Given the description of an element on the screen output the (x, y) to click on. 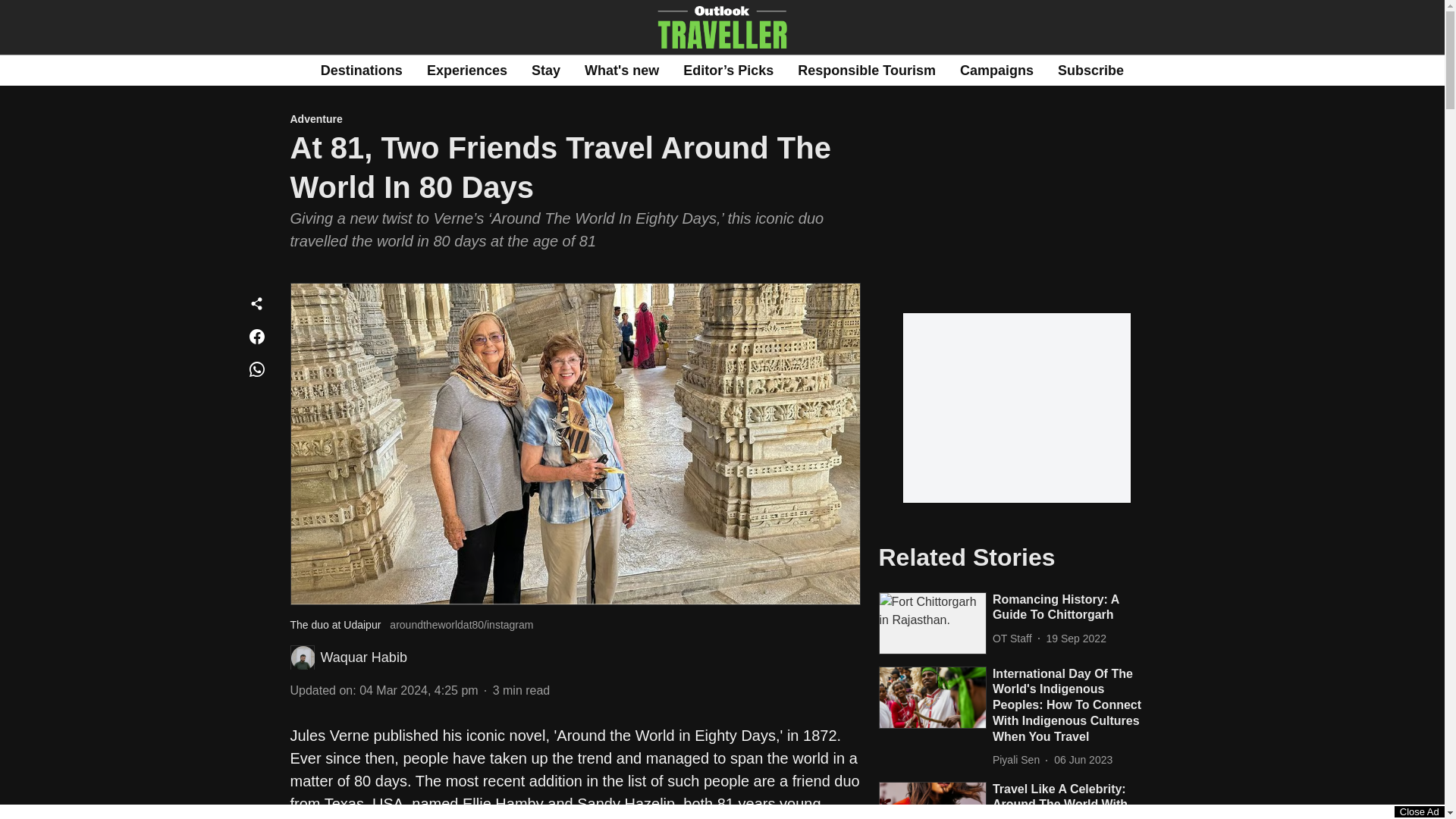
Destinations (361, 70)
Experiences (466, 70)
Responsible Tourism (866, 70)
Subscribe (1091, 70)
travellers (420, 818)
2022-09-19 08:03 (1076, 638)
What's new (622, 70)
Adventure (574, 119)
2023-06-06 07:22 (1083, 760)
Stay (545, 70)
